Given the description of an element on the screen output the (x, y) to click on. 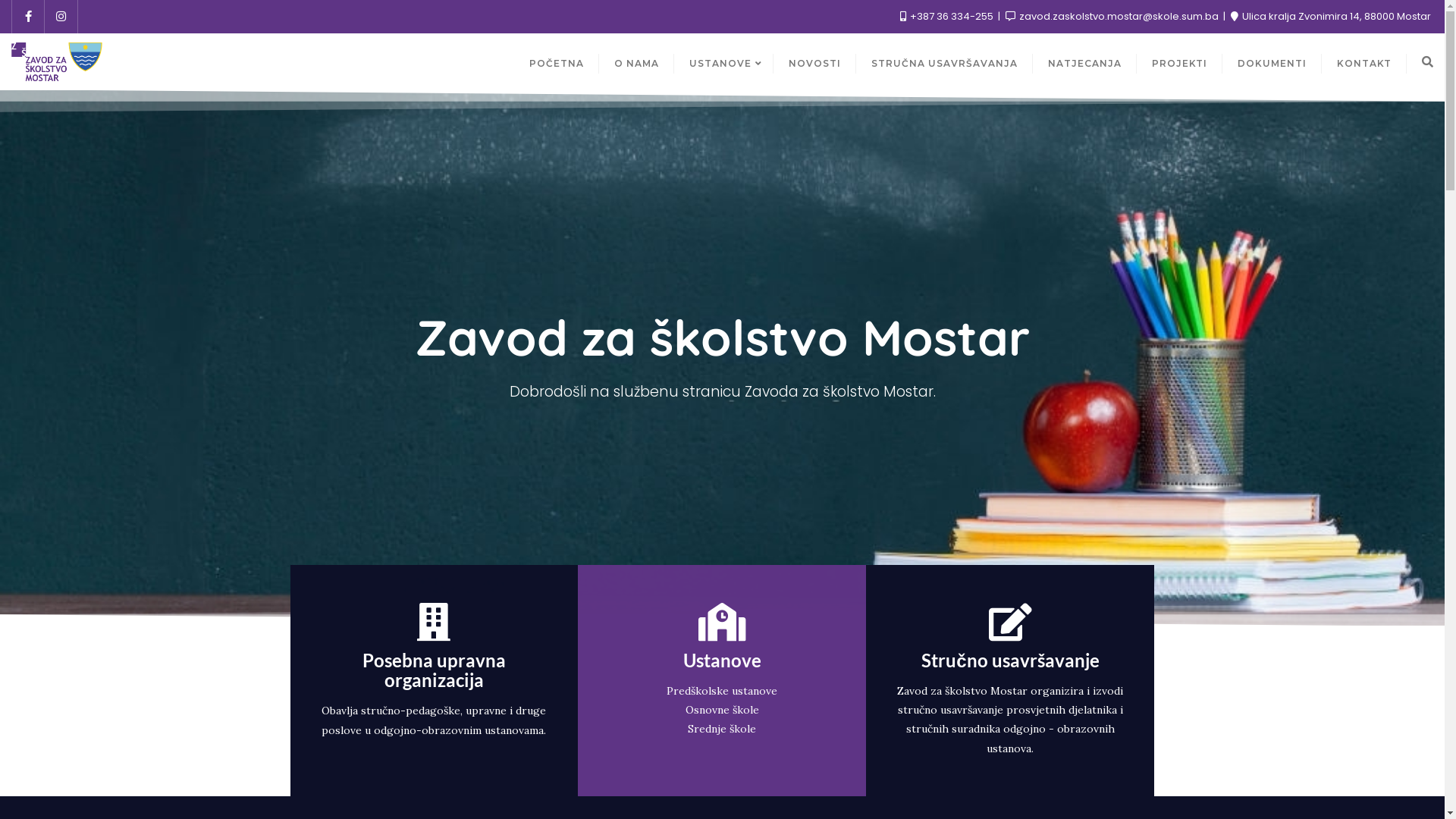
PROJEKTI Element type: text (1179, 62)
KONTAKT Element type: text (1363, 62)
NATJECANJA Element type: text (1084, 62)
USTANOVE Element type: text (723, 62)
DOKUMENTI Element type: text (1271, 62)
O NAMA Element type: text (636, 62)
NOVOSTI Element type: text (814, 62)
